Given the description of an element on the screen output the (x, y) to click on. 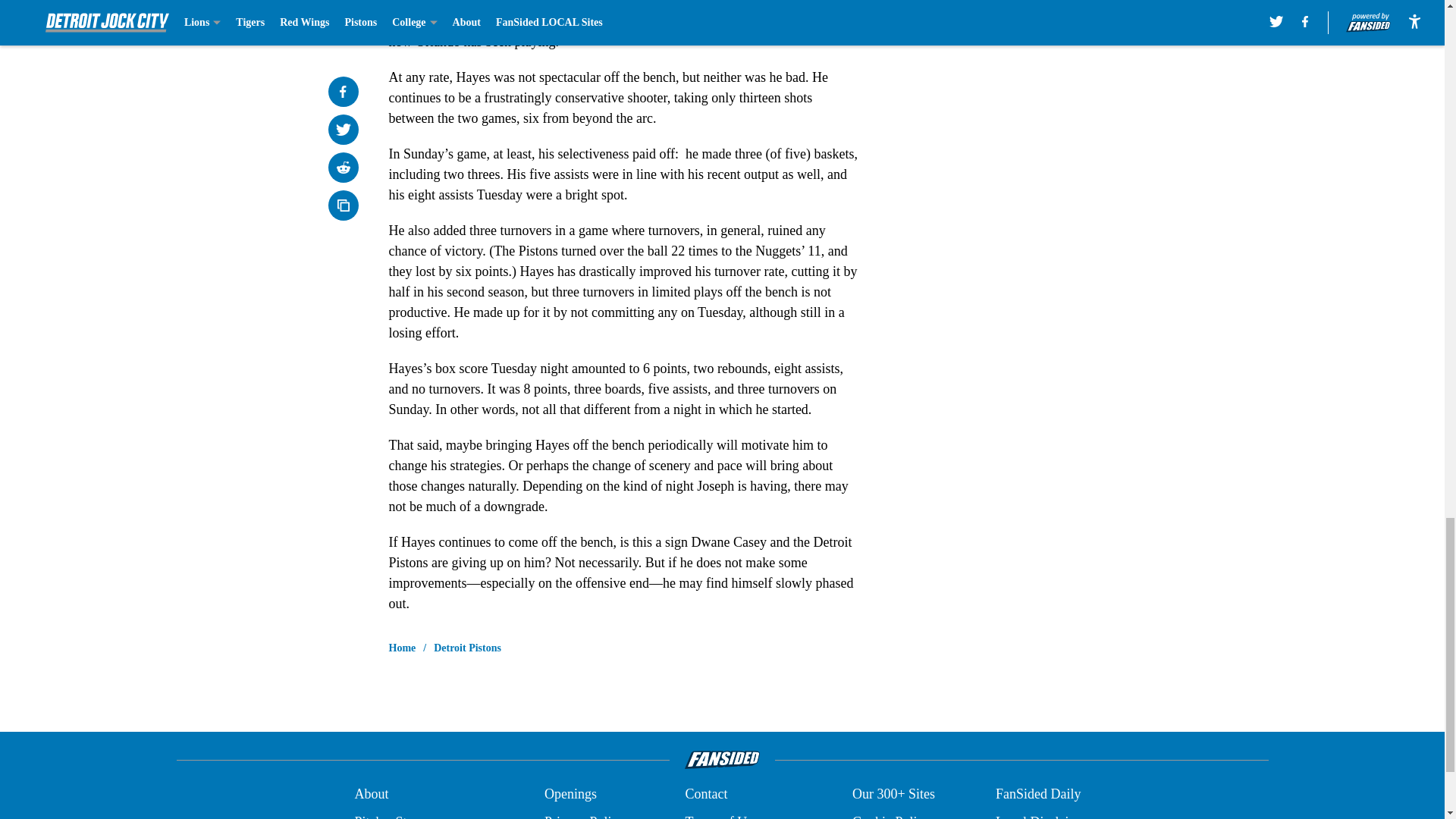
Privacy Policy (584, 815)
Contact (705, 793)
Cookie Policy (890, 815)
Terms of Use (721, 815)
Pitch a Story (389, 815)
Detroit Pistons (466, 648)
Legal Disclaimer (1042, 815)
Openings (570, 793)
About (370, 793)
FanSided Daily (1038, 793)
